Given the description of an element on the screen output the (x, y) to click on. 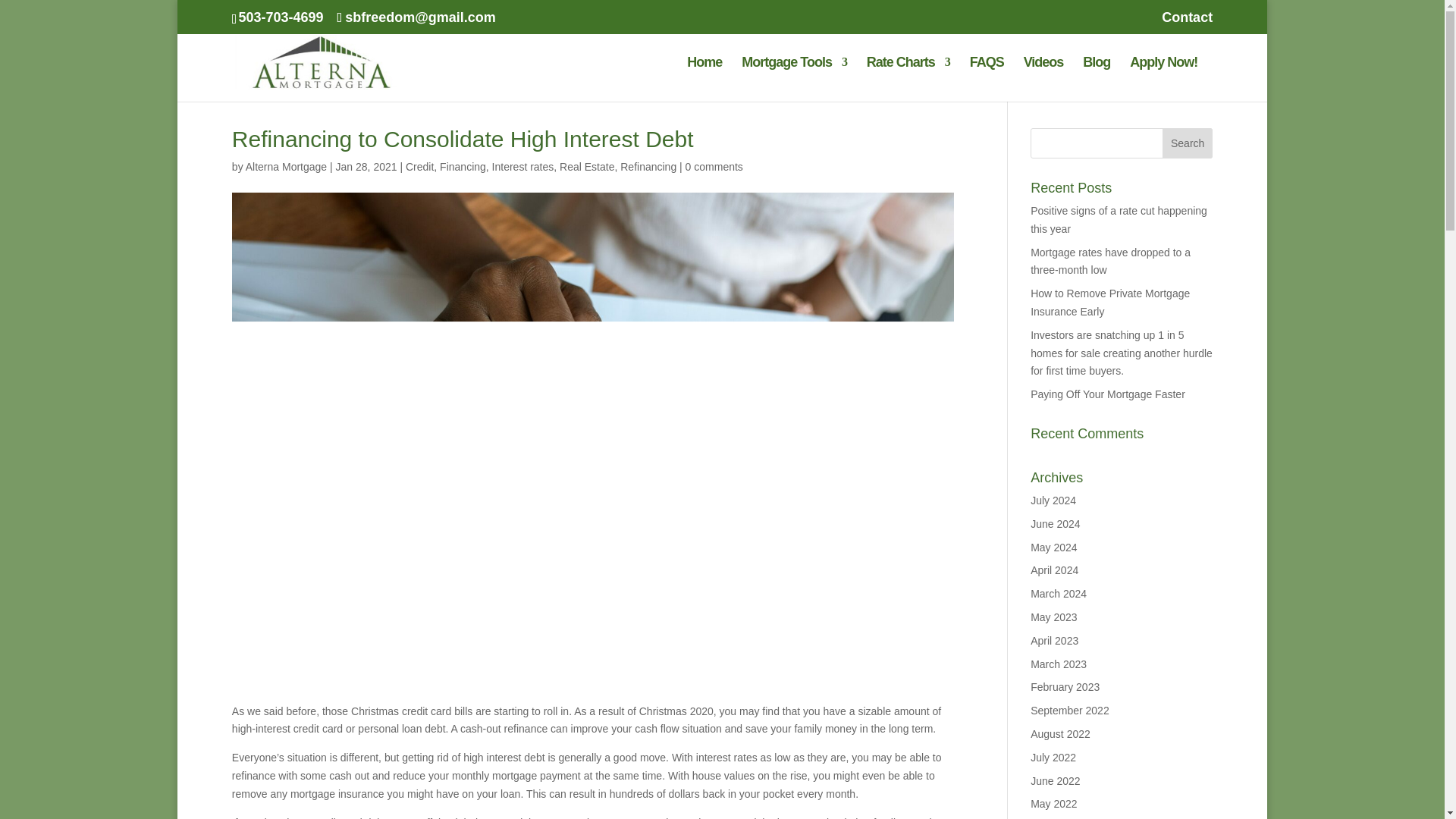
Mortgage Tools (794, 78)
Interest rates (523, 166)
Videos (1043, 78)
Paying Off Your Mortgage Faster (1107, 394)
Financing (462, 166)
0 comments (713, 166)
Apply Now! (1162, 78)
Credit (419, 166)
May 2024 (1053, 547)
Positive signs of a rate cut happening this year (1118, 219)
Mortgage rates have dropped to a three-month low (1110, 261)
Rate Charts (908, 78)
How to Remove Private Mortgage Insurance Early (1109, 302)
Contact (1186, 22)
Search (1186, 142)
